Given the description of an element on the screen output the (x, y) to click on. 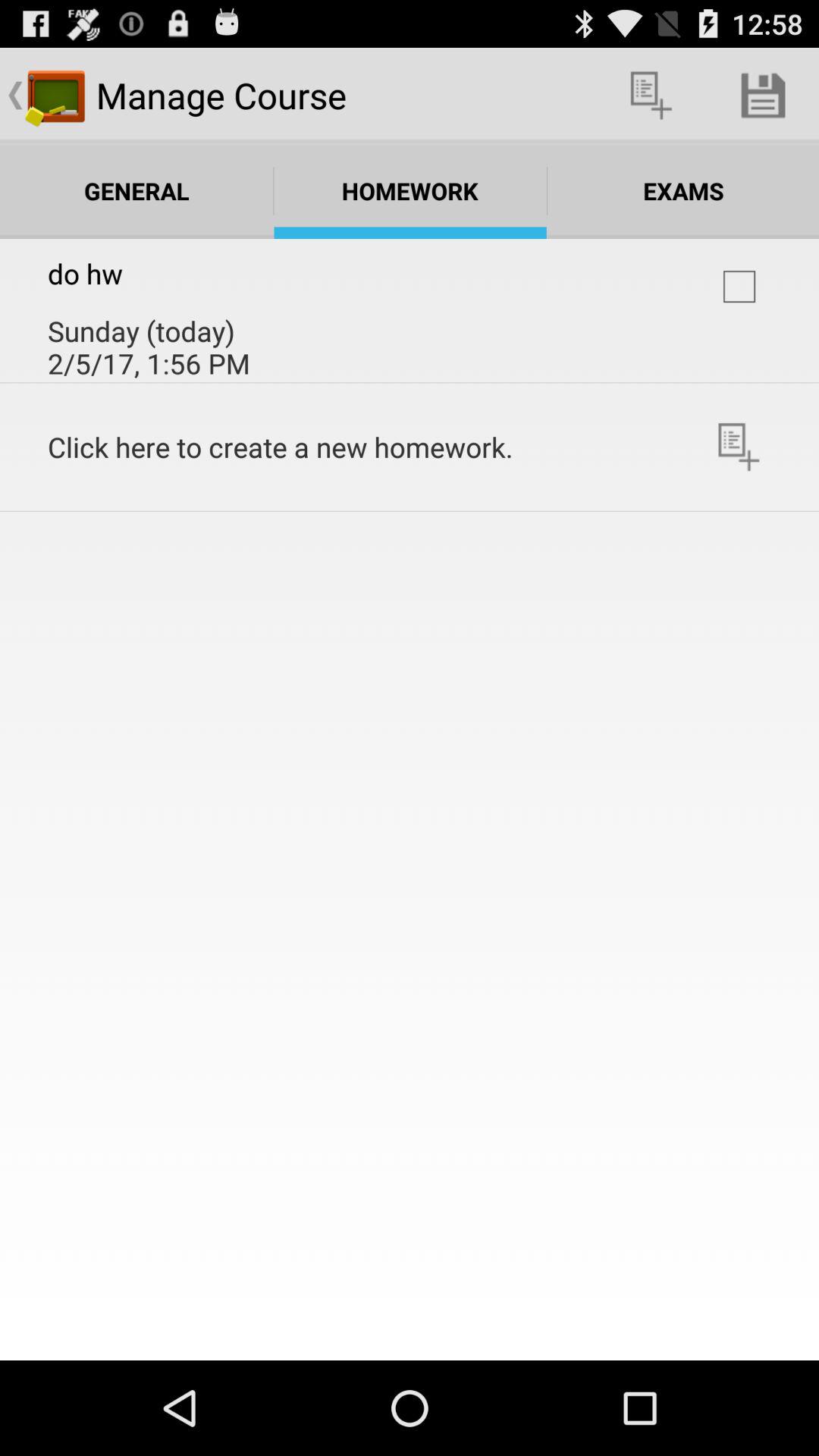
press the app above click here to (739, 286)
